Given the description of an element on the screen output the (x, y) to click on. 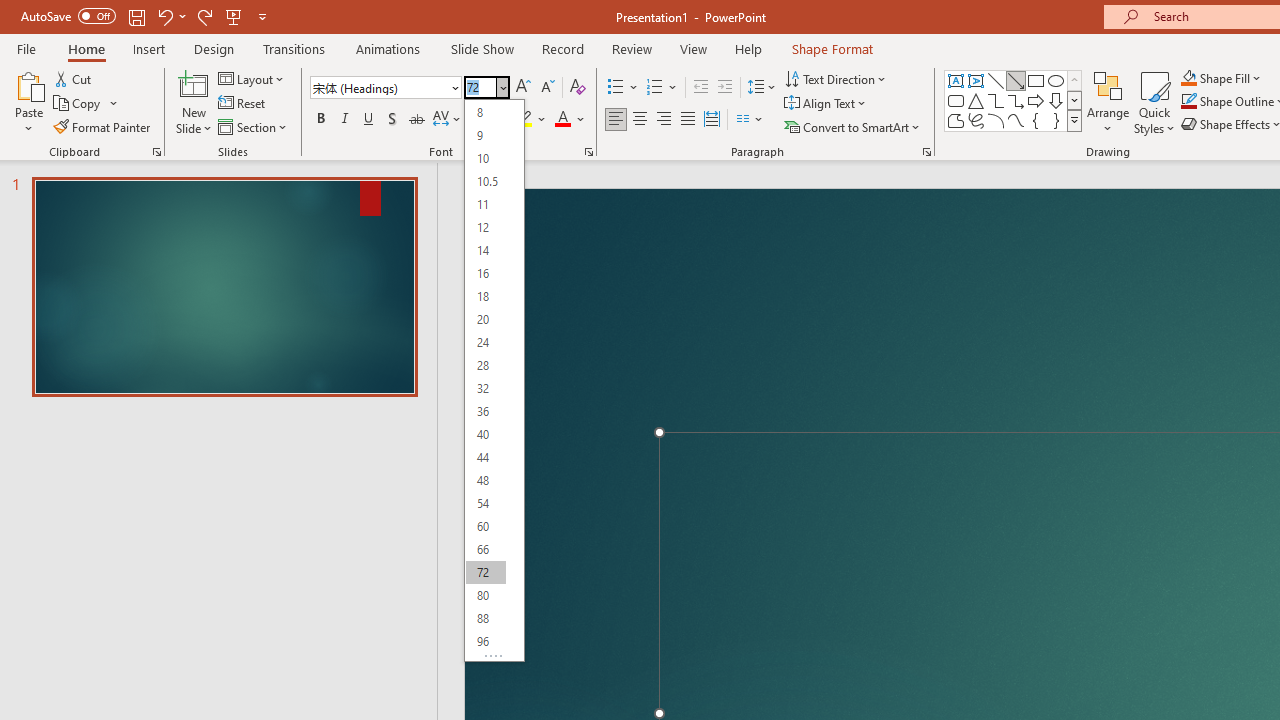
54 (485, 502)
